Given the description of an element on the screen output the (x, y) to click on. 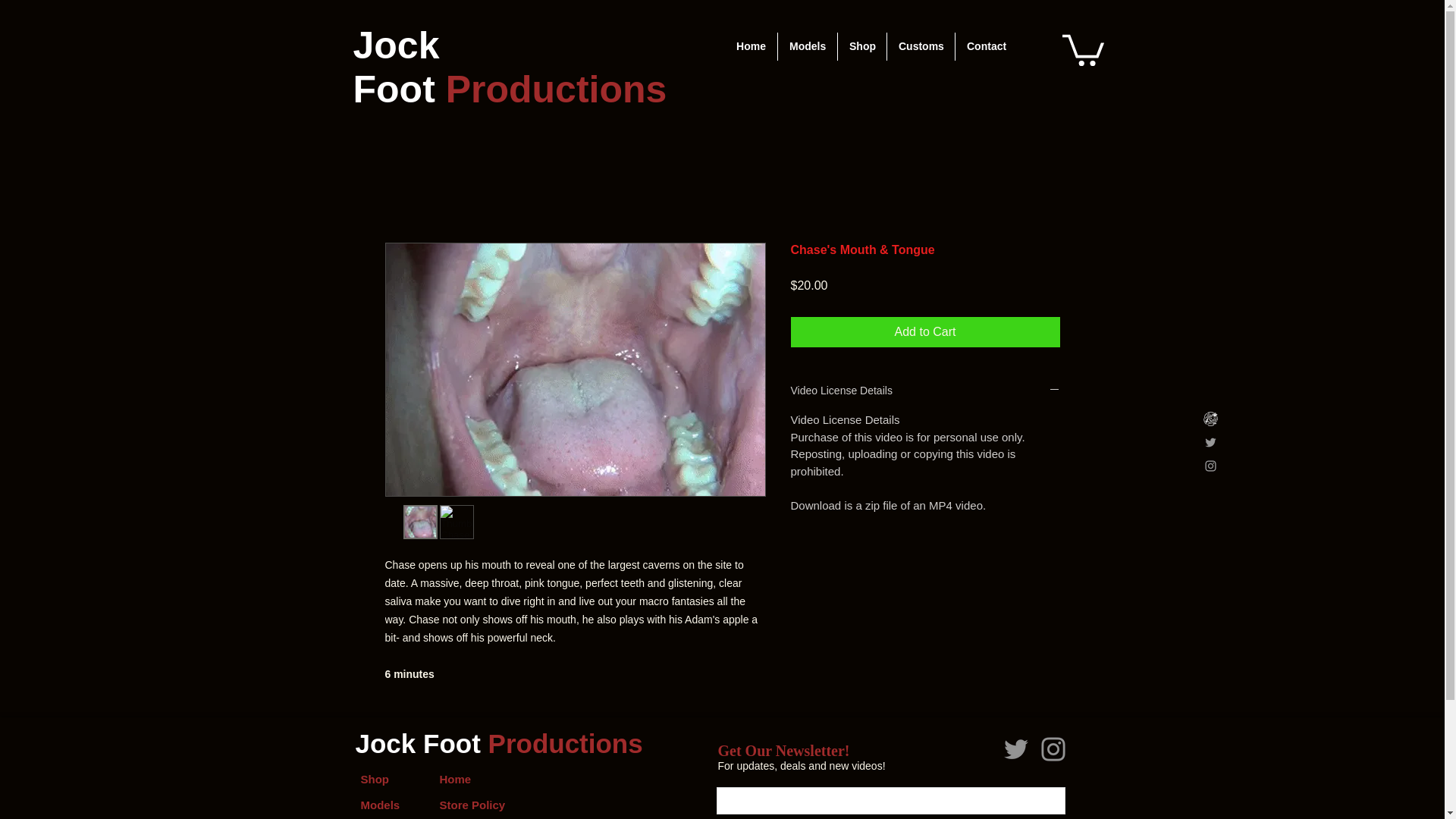
Jock Foot Productions (509, 67)
Models (807, 46)
Home (751, 46)
